Given the description of an element on the screen output the (x, y) to click on. 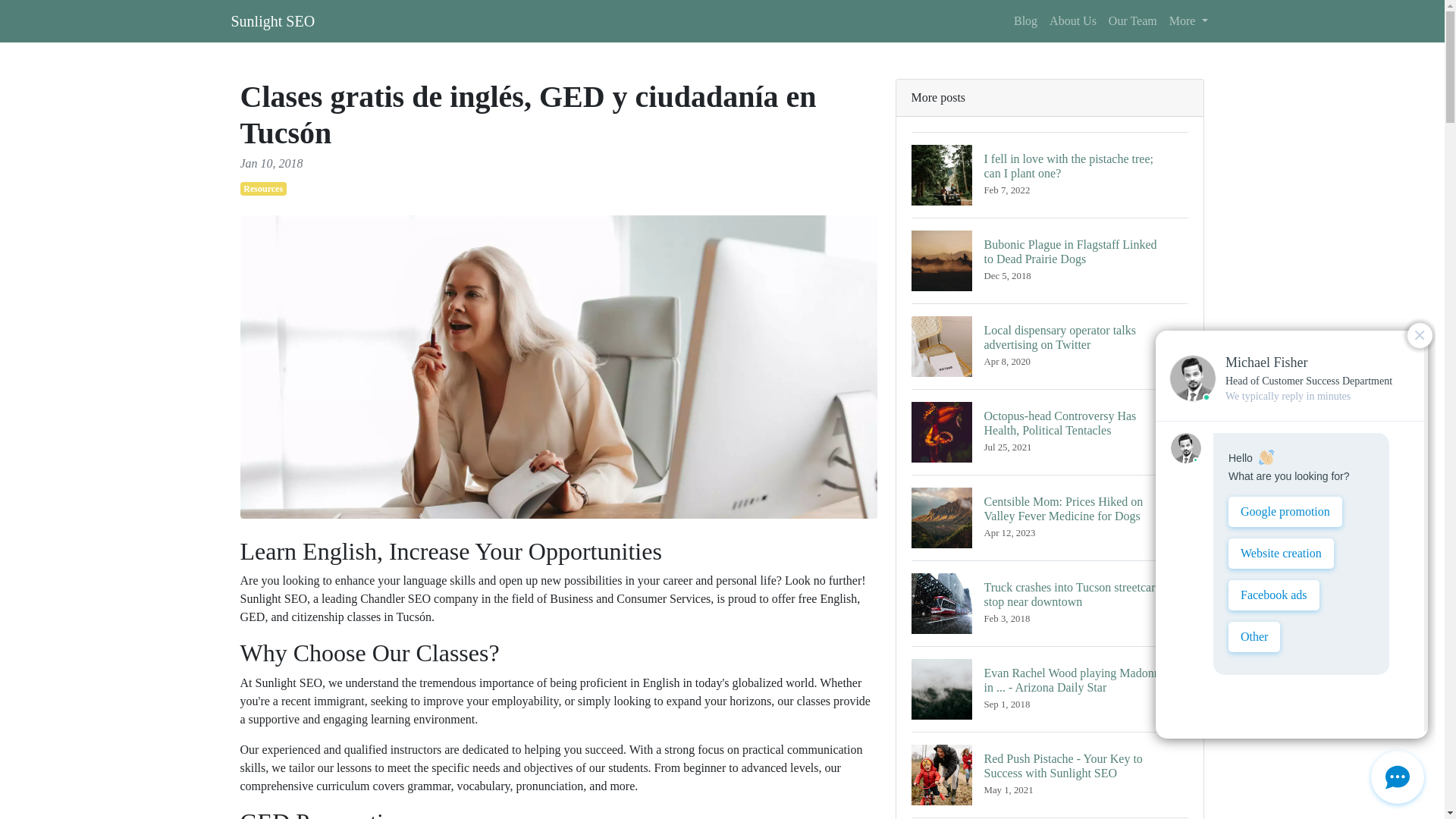
Blog (1025, 20)
More (1188, 20)
About Us (1072, 20)
Sunlight SEO (272, 20)
Resources (262, 188)
Our Team (1132, 20)
